Given the description of an element on the screen output the (x, y) to click on. 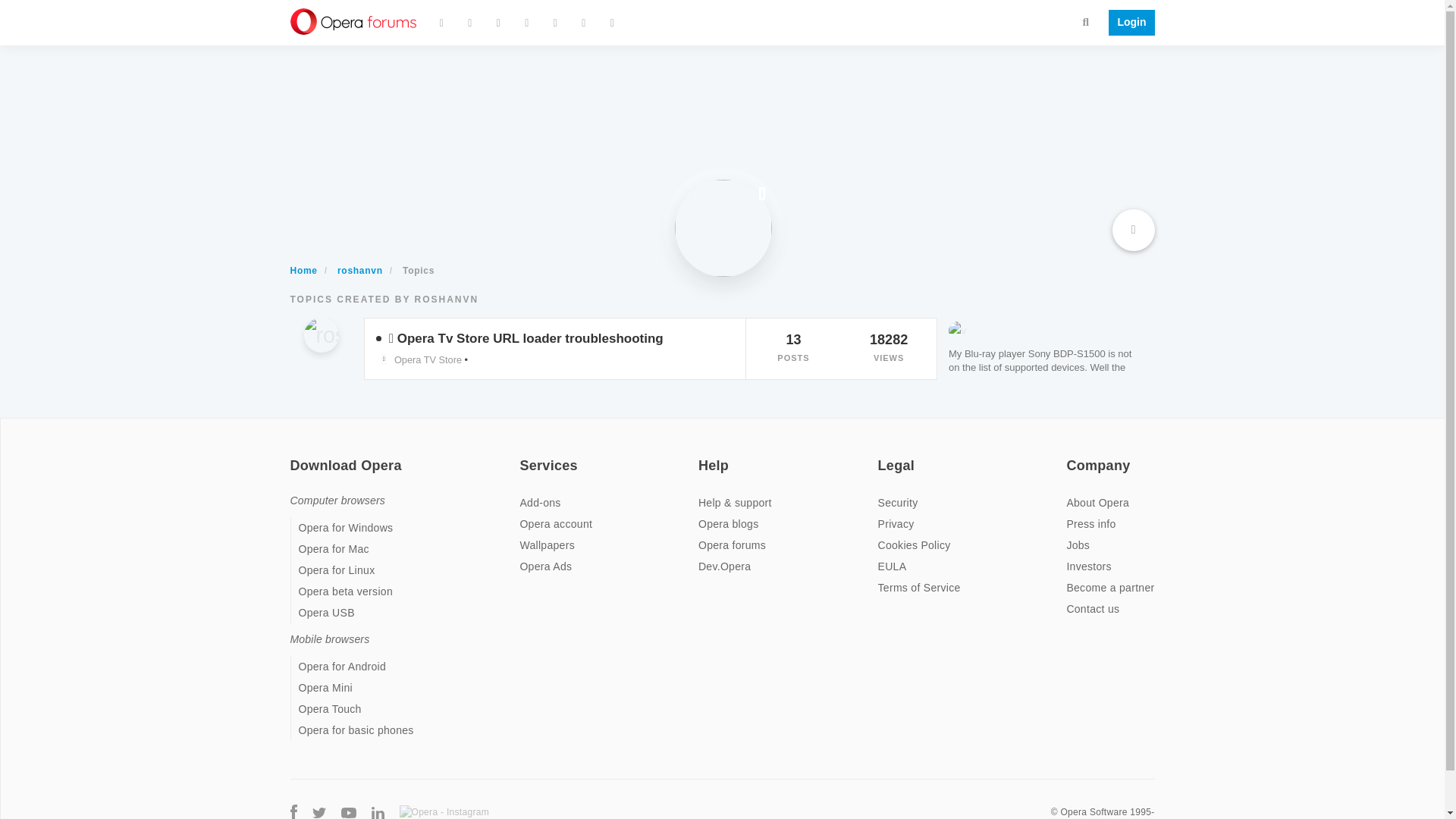
roshanvn (319, 334)
Opera for Windows (345, 527)
Search (1085, 21)
roshanvn (328, 338)
on (881, 455)
Login (1127, 22)
Home (303, 270)
Opera Tv Store URL loader troubleshooting (530, 338)
on (702, 455)
on (1070, 455)
on (293, 455)
Opera TV Store (418, 359)
on (523, 455)
roshanvn (359, 270)
Computer browsers (337, 500)
